Given the description of an element on the screen output the (x, y) to click on. 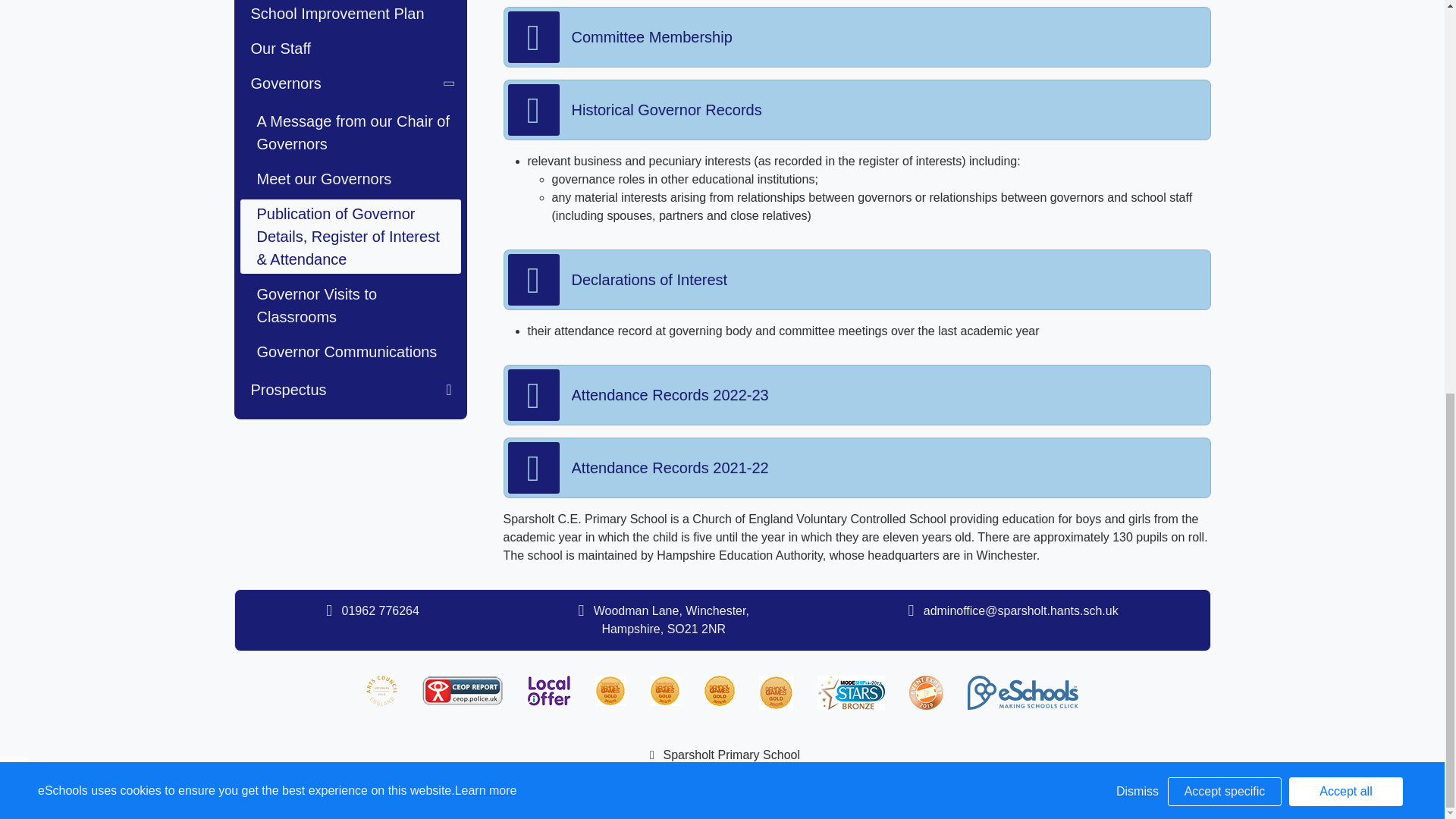
Sainsburys School Games Gold 2013-14 (664, 690)
Sainsbury School Games (610, 690)
Modeshift Stars Bronze (850, 692)
CEOP Report (462, 690)
Local Offer Cambs (548, 690)
School Games Gold 2017-18 (775, 692)
Artsmark Gold Award (381, 690)
